Given the description of an element on the screen output the (x, y) to click on. 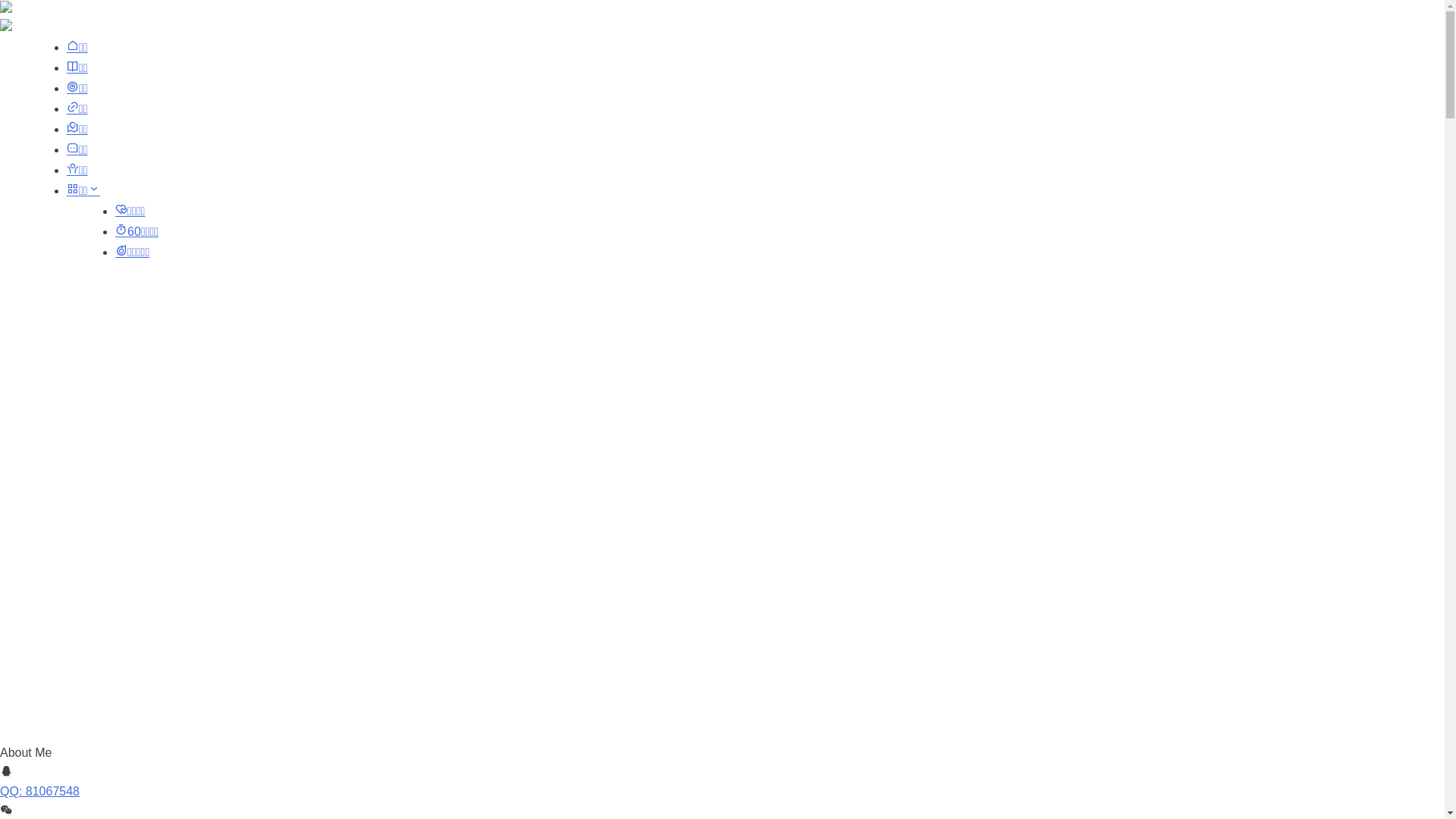
QQ: 81067548 Element type: text (39, 790)
